Given the description of an element on the screen output the (x, y) to click on. 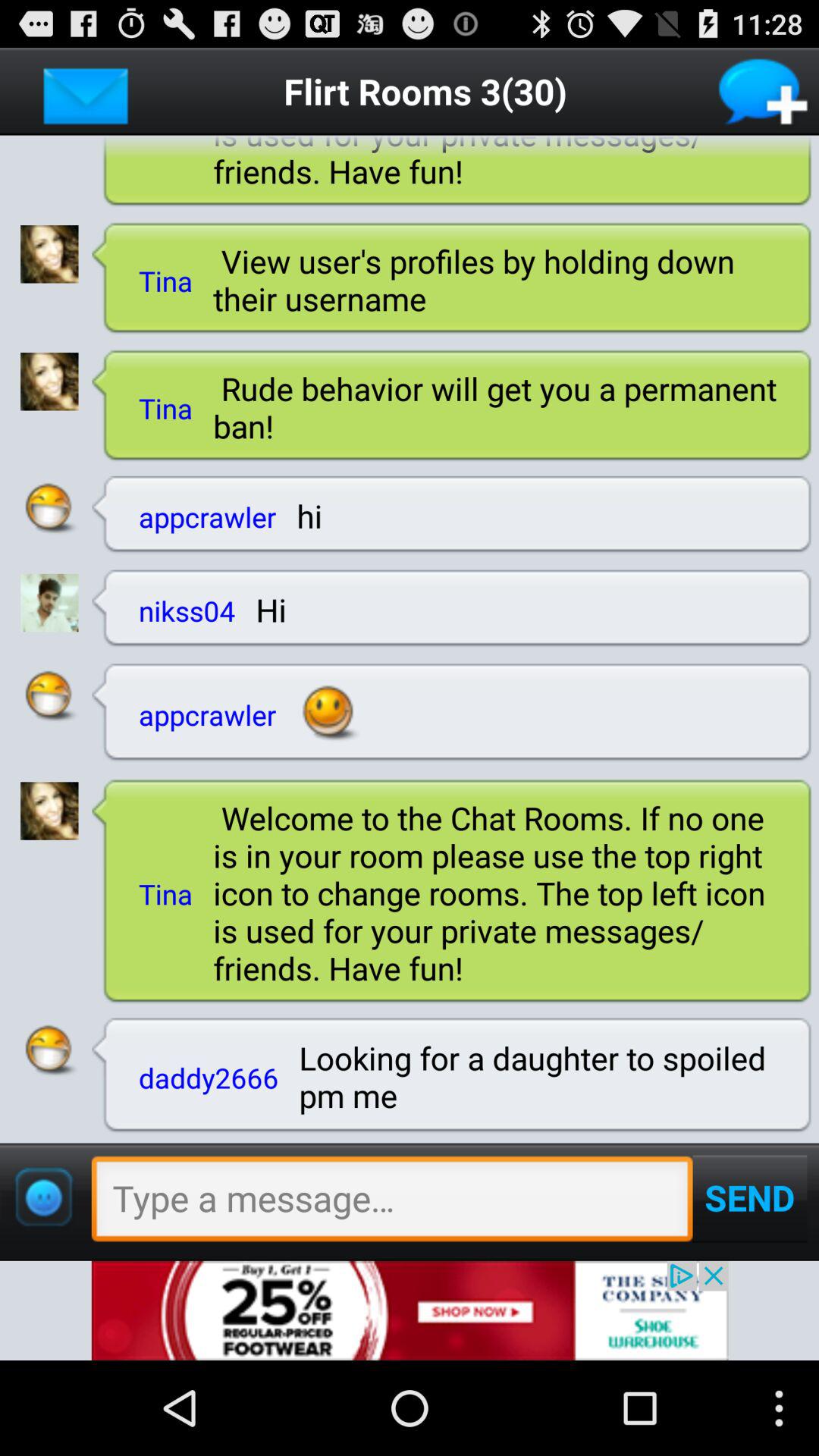
emojis (43, 1197)
